Given the description of an element on the screen output the (x, y) to click on. 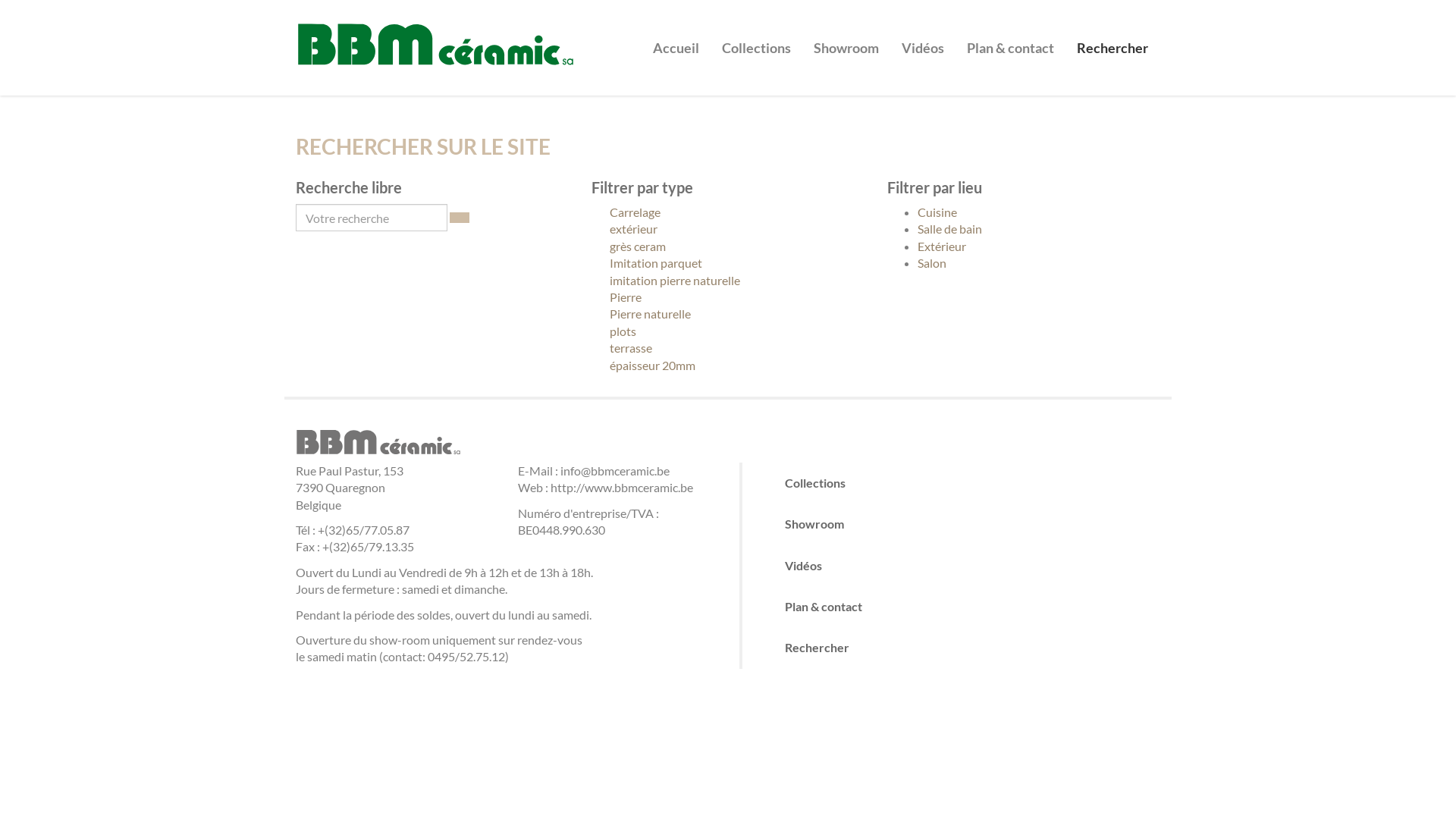
Rechercher Element type: text (1112, 36)
Accueil Element type: text (675, 36)
imitation pierre naturelle Element type: text (727, 280)
Salon Element type: text (931, 262)
Collections Element type: text (966, 482)
Rechercher Element type: text (966, 647)
Plan & contact Element type: text (966, 606)
Carrelage Element type: text (727, 211)
Imitation parquet Element type: text (727, 262)
Showroom Element type: text (966, 523)
Salle de bain Element type: text (949, 228)
Plan & contact Element type: text (1010, 36)
plots Element type: text (727, 331)
Pierre naturelle Element type: text (727, 313)
Pierre Element type: text (727, 296)
Showroom Element type: text (846, 36)
Cuisine Element type: text (937, 211)
Collections Element type: text (756, 36)
terrasse Element type: text (727, 347)
